Given the description of an element on the screen output the (x, y) to click on. 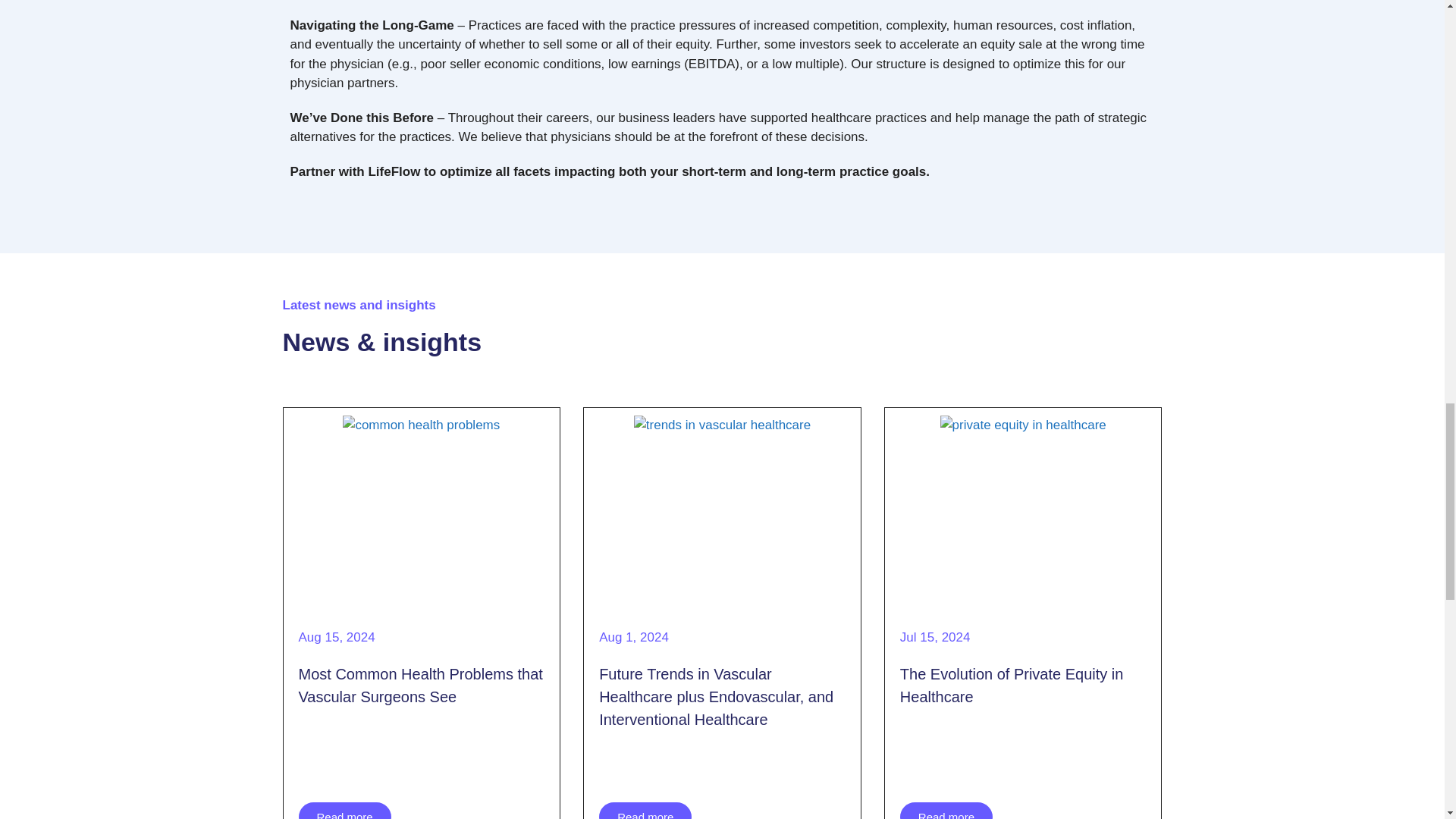
Most Common Health Problems that Vascular Surgeons See (420, 685)
The Evolution of Private Equity in Healthcare (1011, 685)
Read more (344, 810)
Read more (945, 810)
trends-in-vascular-healthcare (721, 510)
Read more (644, 810)
